Given the description of an element on the screen output the (x, y) to click on. 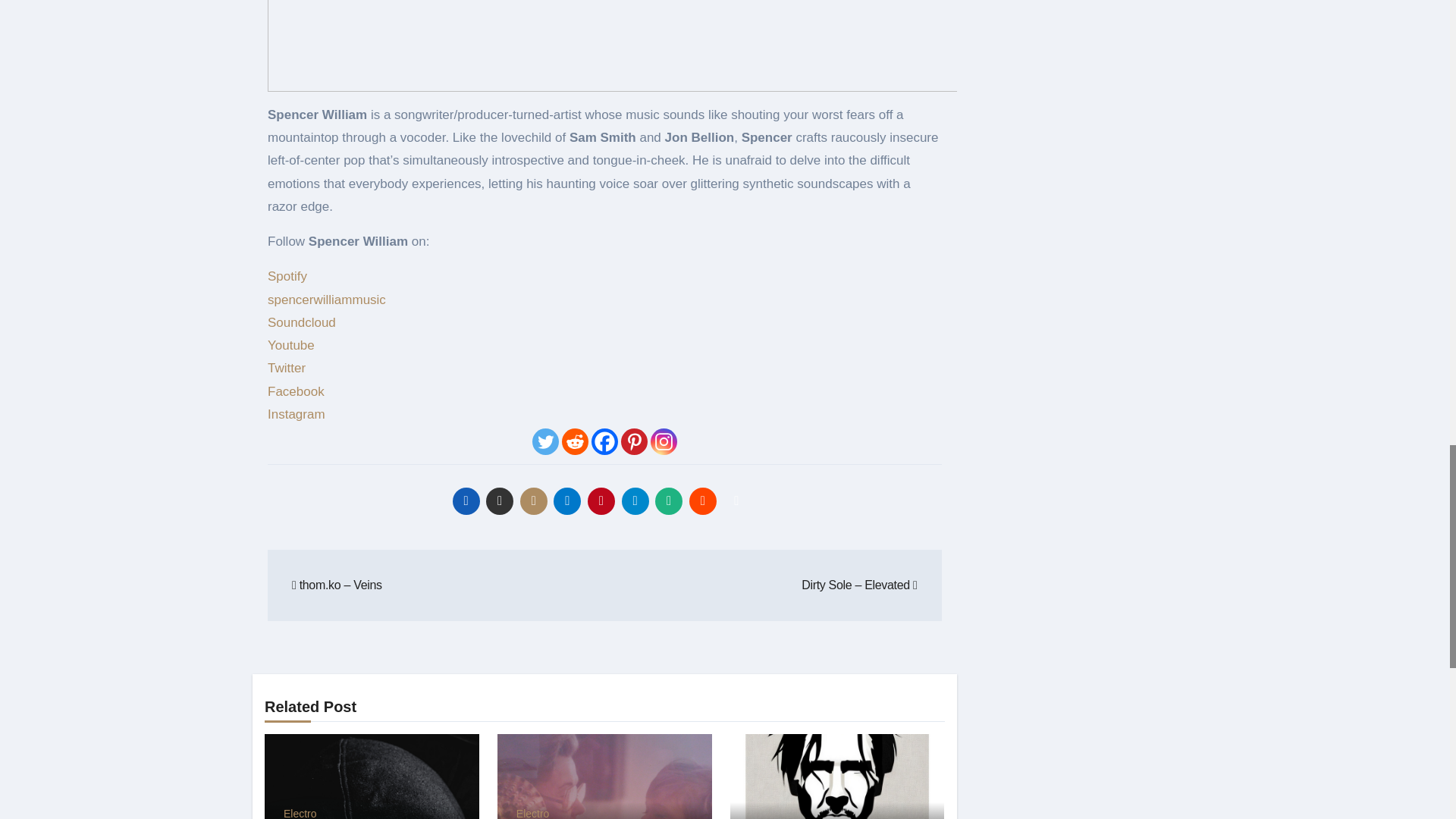
Youtube (290, 345)
Reddit (575, 441)
Soundcloud (301, 322)
Twitter (286, 368)
Electro (300, 813)
Spotify (287, 276)
Instagram  (298, 414)
Instagram (663, 441)
Facebook (604, 441)
spencerwilliammusic (326, 299)
Pinterest (634, 441)
Twitter (545, 441)
Facebook (295, 391)
